Given the description of an element on the screen output the (x, y) to click on. 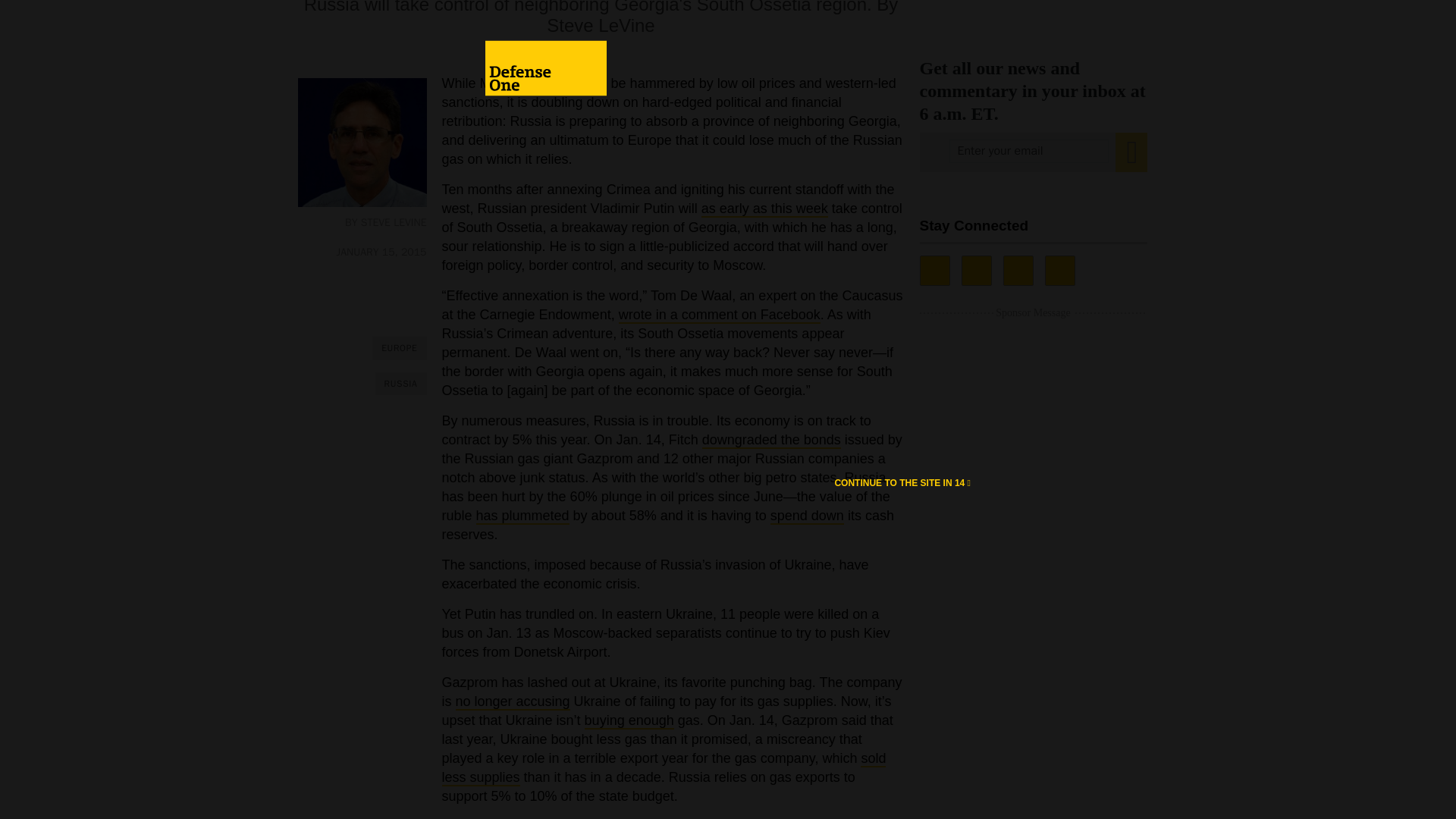
3rd party ad content (1032, 9)
